Given the description of an element on the screen output the (x, y) to click on. 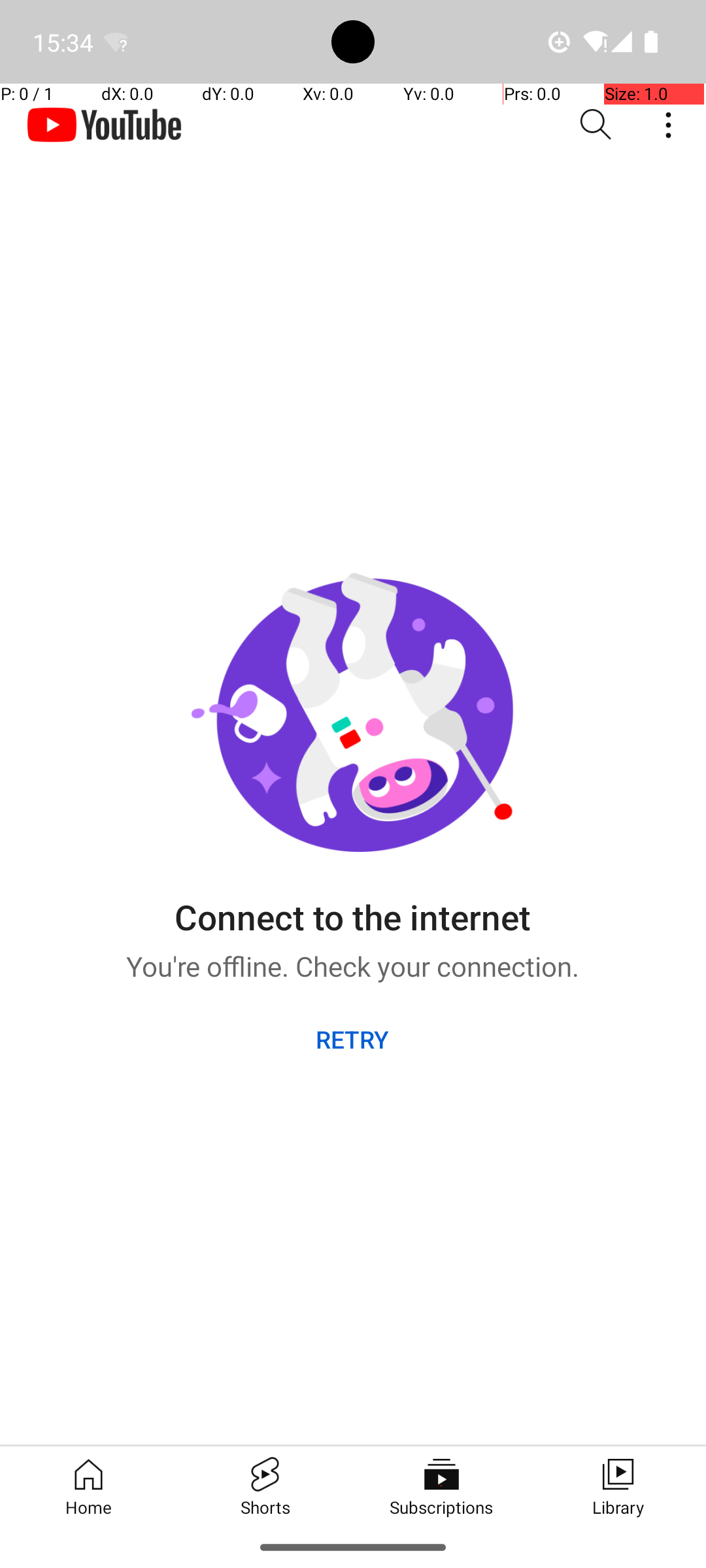
Connect to the internet Element type: android.widget.TextView (351, 906)
You're offline. Check your connection. Element type: android.widget.TextView (352, 962)
RETRY Element type: android.widget.TextView (352, 1039)
